Given the description of an element on the screen output the (x, y) to click on. 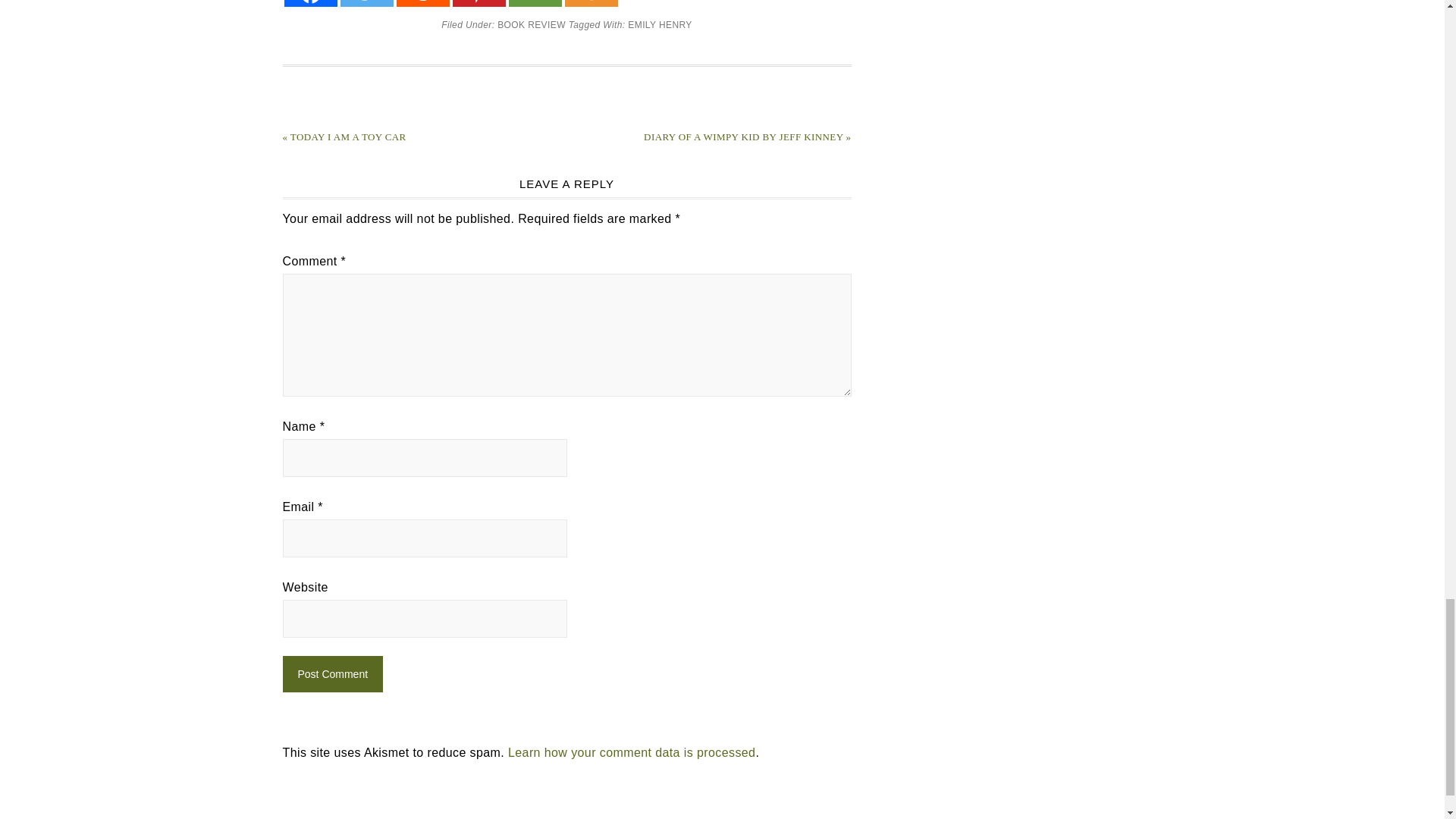
Email (534, 3)
Learn how your comment data is processed (631, 752)
Facebook (309, 3)
Post Comment (332, 674)
Post Comment (332, 674)
More (590, 3)
Reddit (422, 3)
Pinterest (478, 3)
BOOK REVIEW (531, 24)
EMILY HENRY (659, 24)
